Given the description of an element on the screen output the (x, y) to click on. 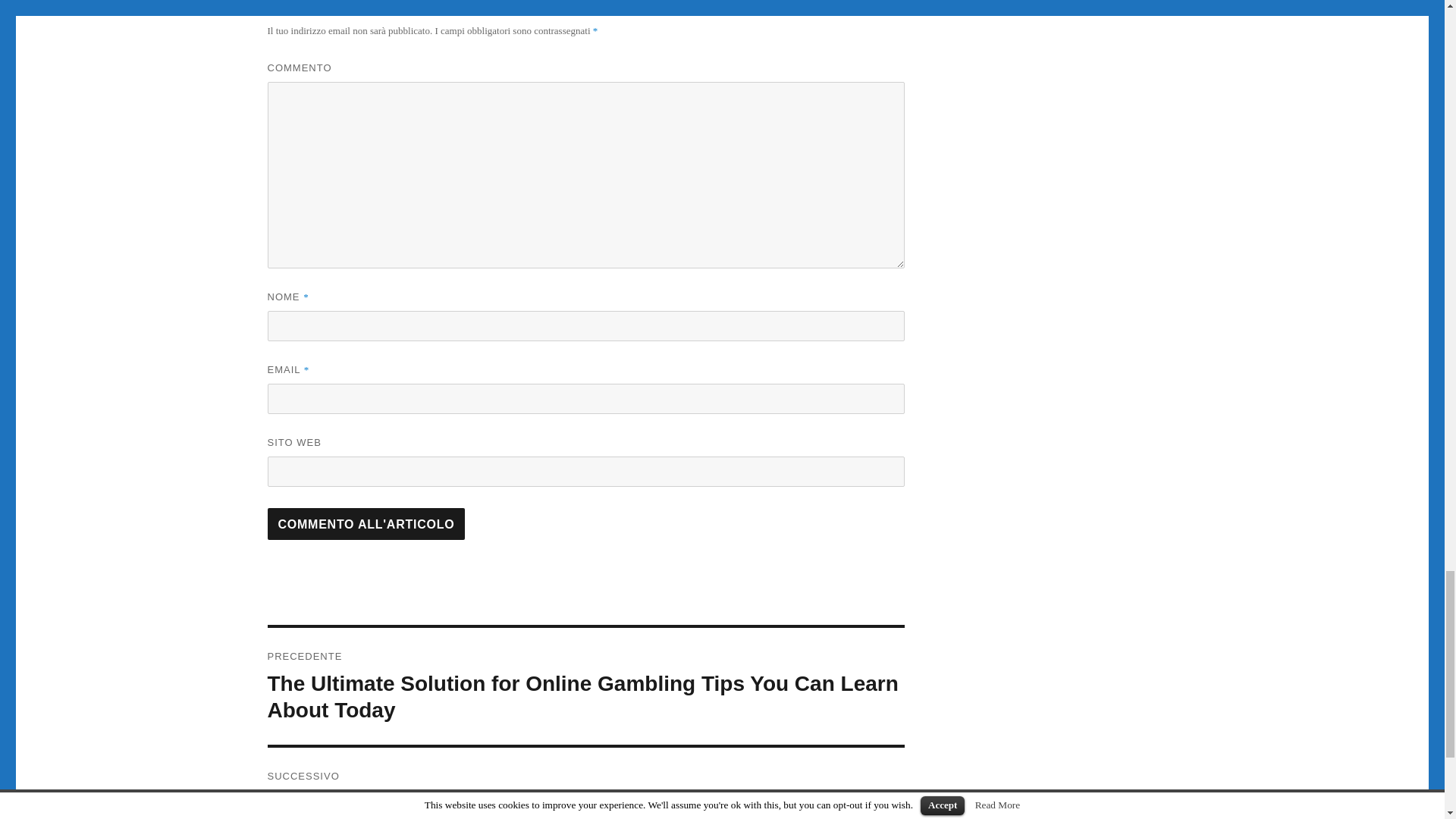
Commento all'articolo (365, 523)
Commento all'articolo (365, 523)
